Given the description of an element on the screen output the (x, y) to click on. 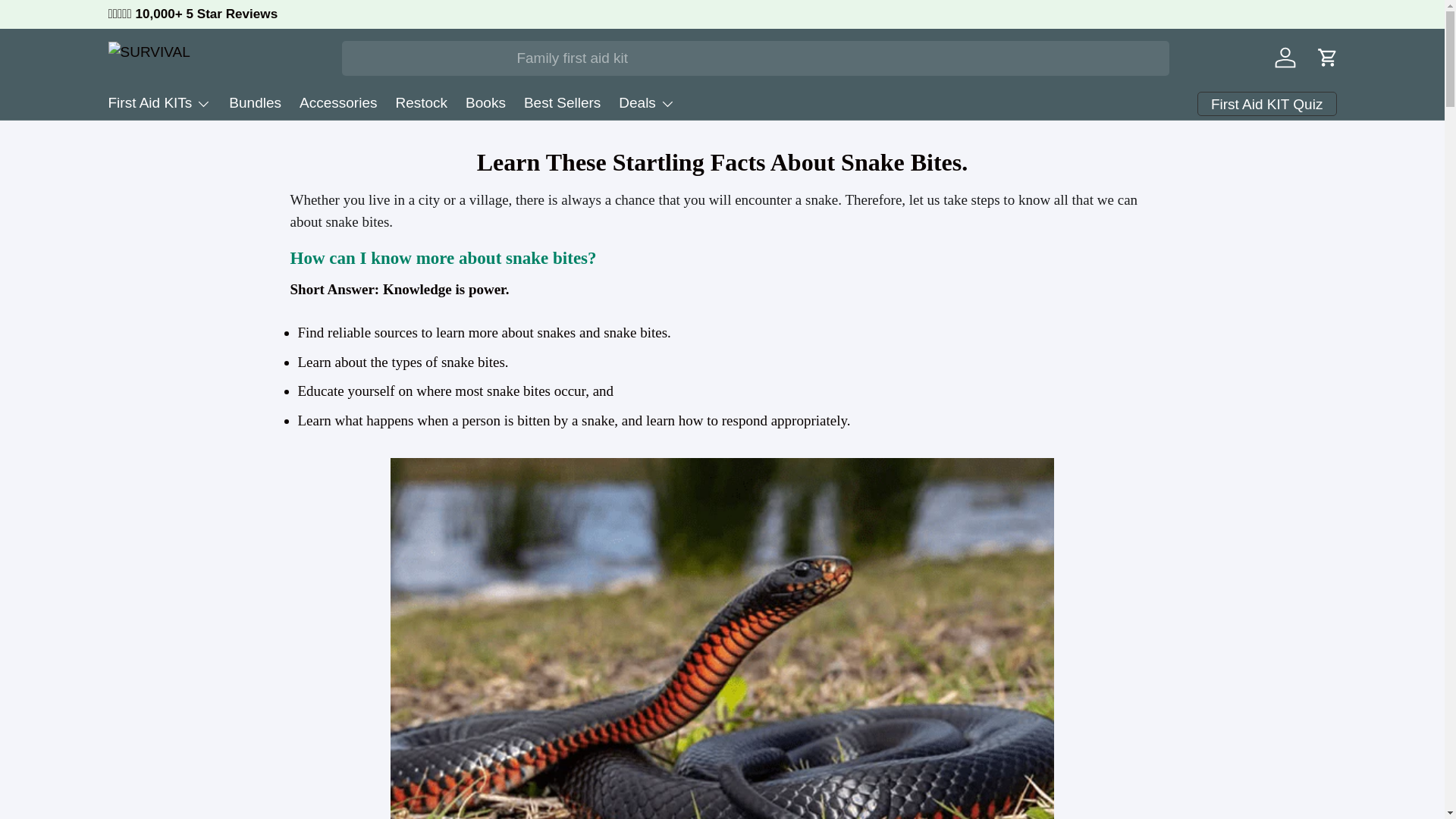
Bundles (254, 102)
Skip to content (68, 21)
Accessories (338, 102)
First Aid KITs (159, 102)
Cart (1326, 57)
Log in (1284, 57)
